Given the description of an element on the screen output the (x, y) to click on. 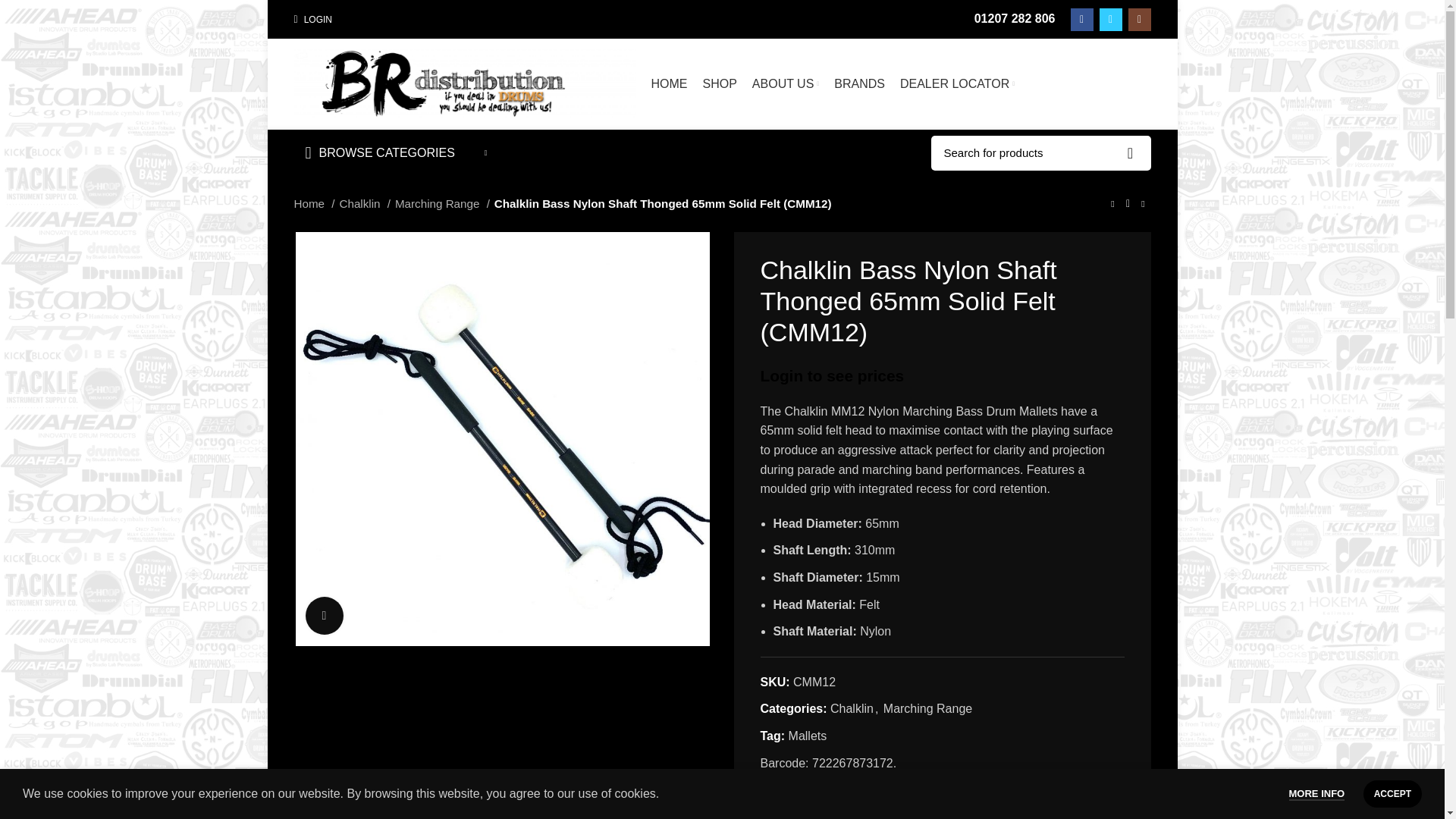
BRANDS (859, 83)
Search for products (1041, 152)
Log in (418, 255)
ABOUT US (785, 83)
LOGIN (312, 19)
My account (312, 19)
SHOP (719, 83)
DEALER LOCATOR (957, 83)
HOME (668, 83)
View brand (781, 802)
